Given the description of an element on the screen output the (x, y) to click on. 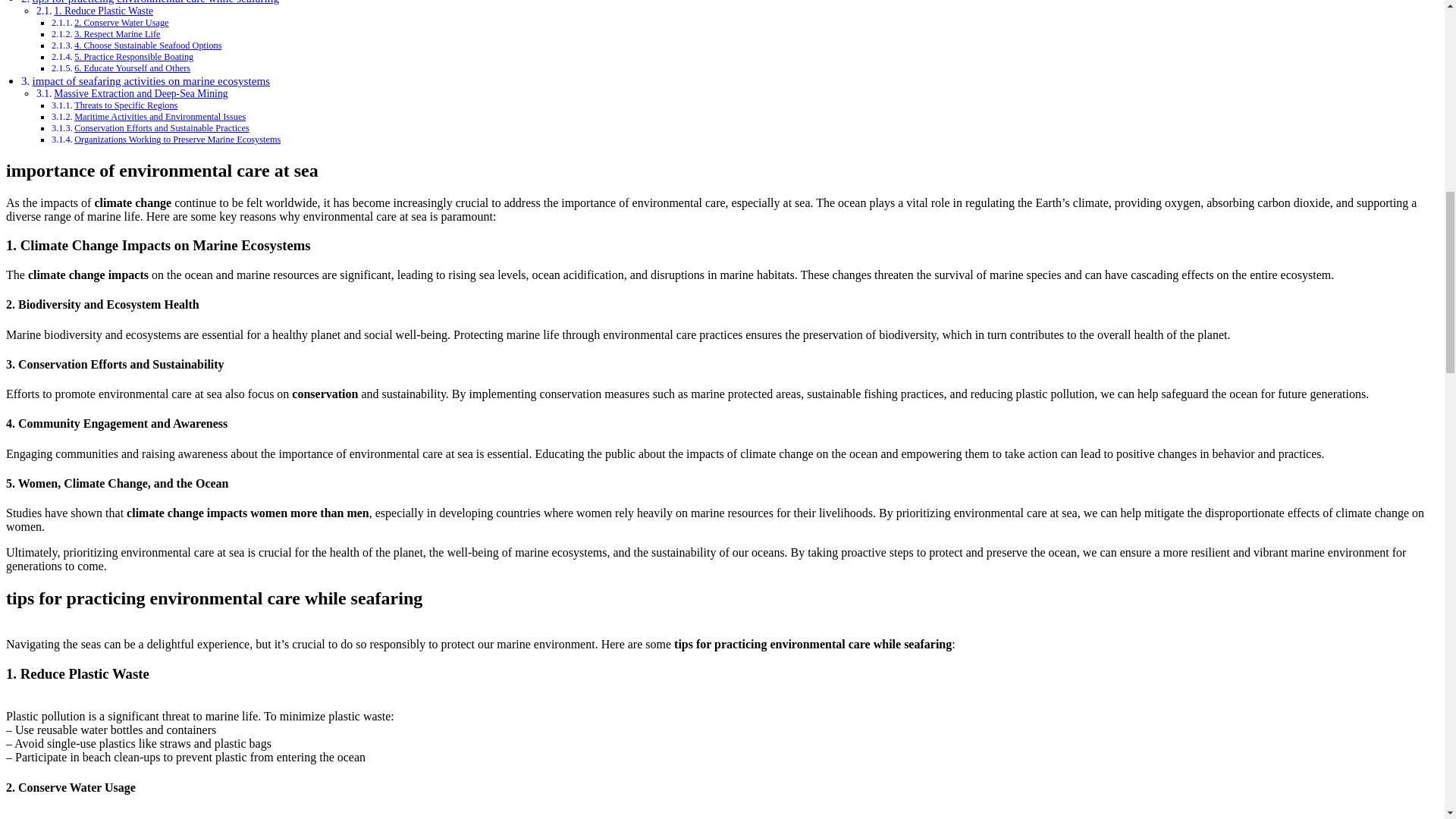
2. Conserve Water Usage (121, 22)
impact of seafaring activities on marine ecosystems (150, 80)
tips for practicing environmental care while seafaring (155, 2)
3. Respect Marine Life (117, 33)
Maritime Activities and Environmental Issues (160, 116)
5. Practice Responsible Boating (133, 56)
5. Practice Responsible Boating (133, 56)
1. Reduce Plastic Waste (102, 10)
3. Respect Marine Life (117, 33)
tips for practicing environmental care while seafaring (155, 2)
4. Choose Sustainable Seafood Options (147, 45)
4. Choose Sustainable Seafood Options (147, 45)
6. Educate Yourself and Others (132, 68)
Massive Extraction and Deep-Sea Mining (140, 93)
1. Reduce Plastic Waste (102, 10)
